Given the description of an element on the screen output the (x, y) to click on. 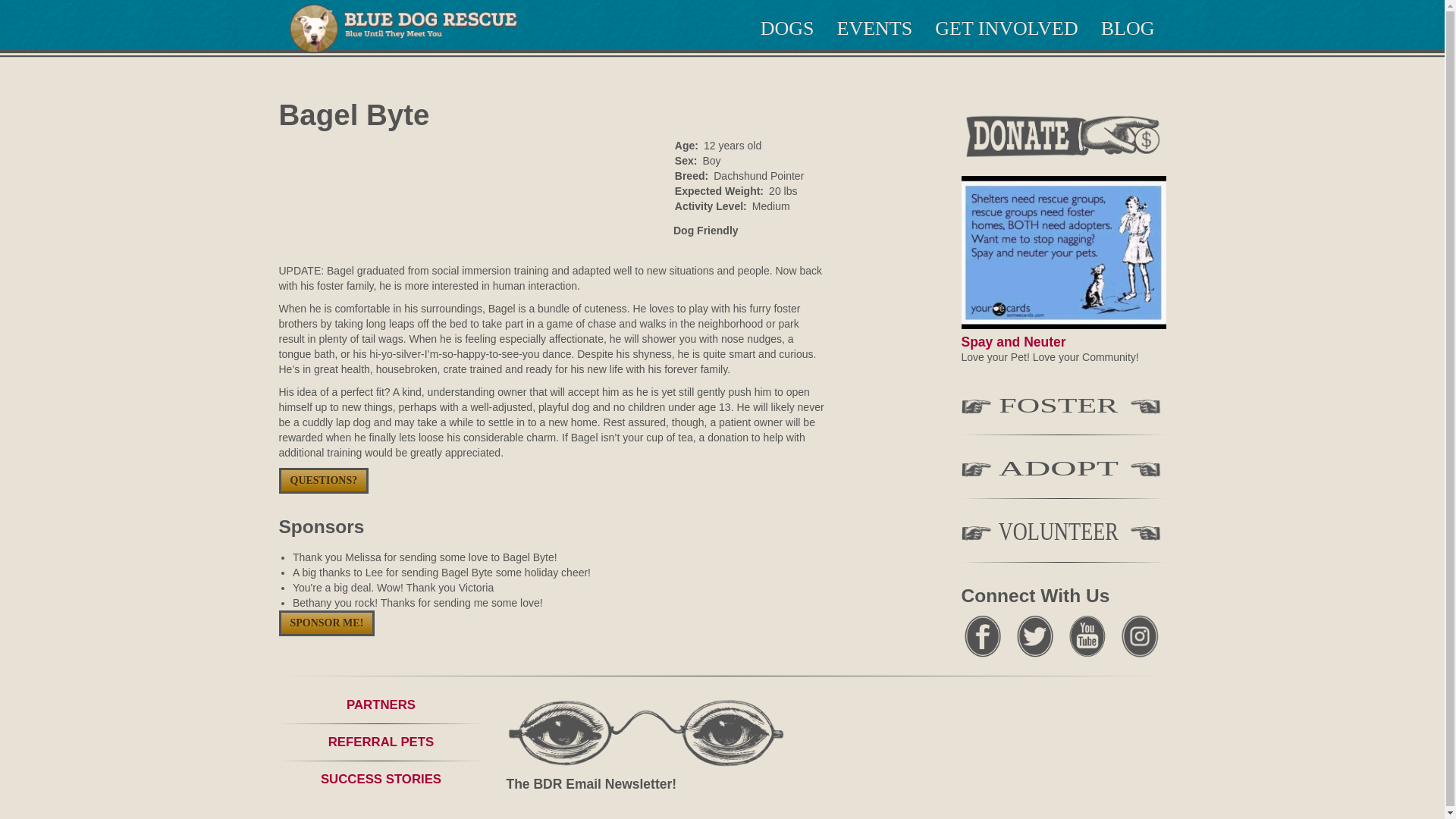
REFERRAL PETS (381, 741)
ADOPT (1063, 471)
FOSTER (1063, 407)
EVENTS (874, 28)
GET INVOLVED (1006, 28)
VOLUNTEER (1063, 534)
BLOG (1127, 28)
SUCCESS STORIES (380, 779)
PARTNERS (380, 704)
Spay and Neuter (1012, 341)
